Given the description of an element on the screen output the (x, y) to click on. 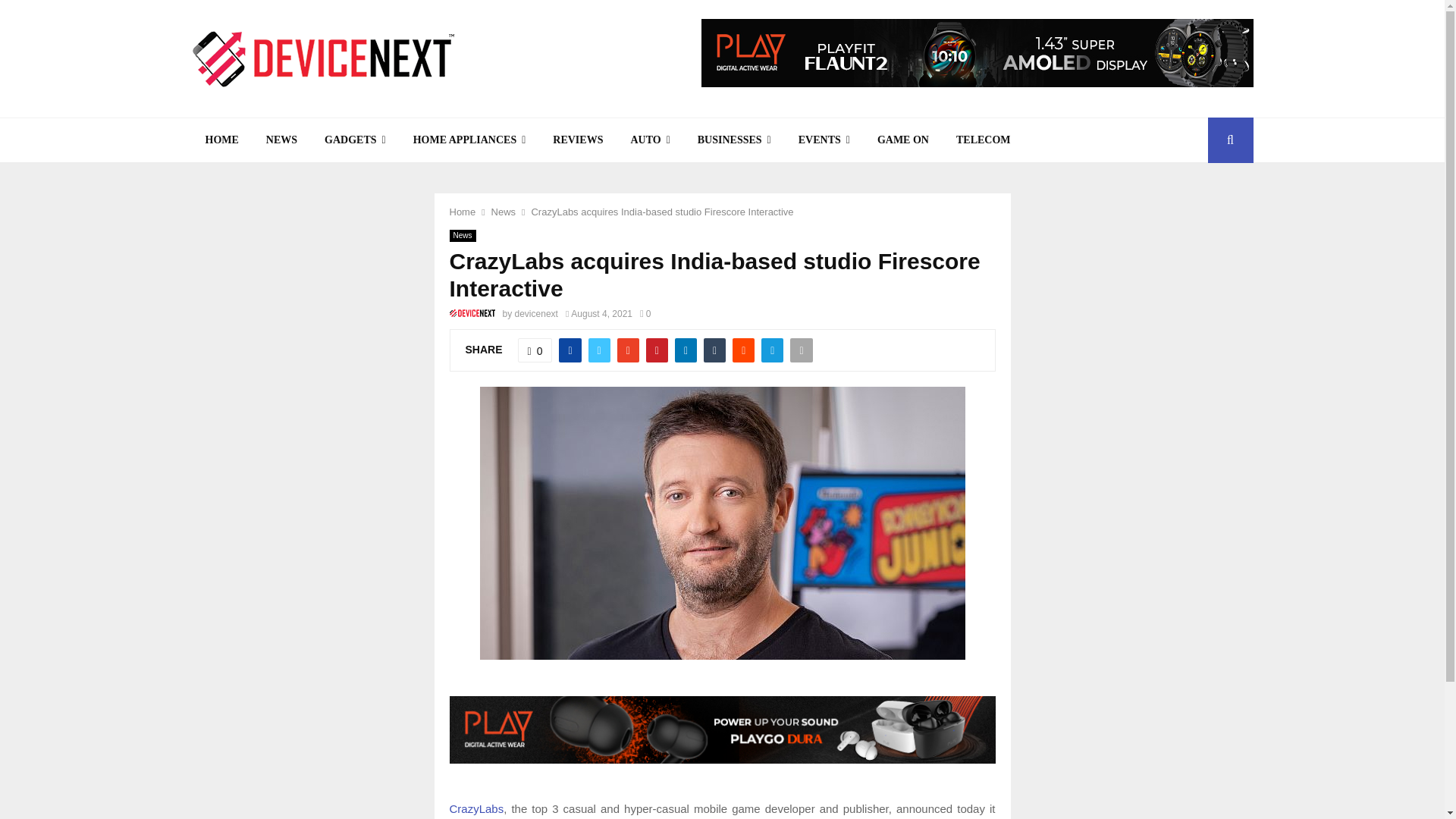
HOME APPLIANCES (469, 139)
REVIEWS (576, 139)
HOME (220, 139)
AUTO (648, 139)
EVENTS (823, 139)
BUSINESSES (734, 139)
GADGETS (354, 139)
Like (535, 350)
NEWS (281, 139)
